Given the description of an element on the screen output the (x, y) to click on. 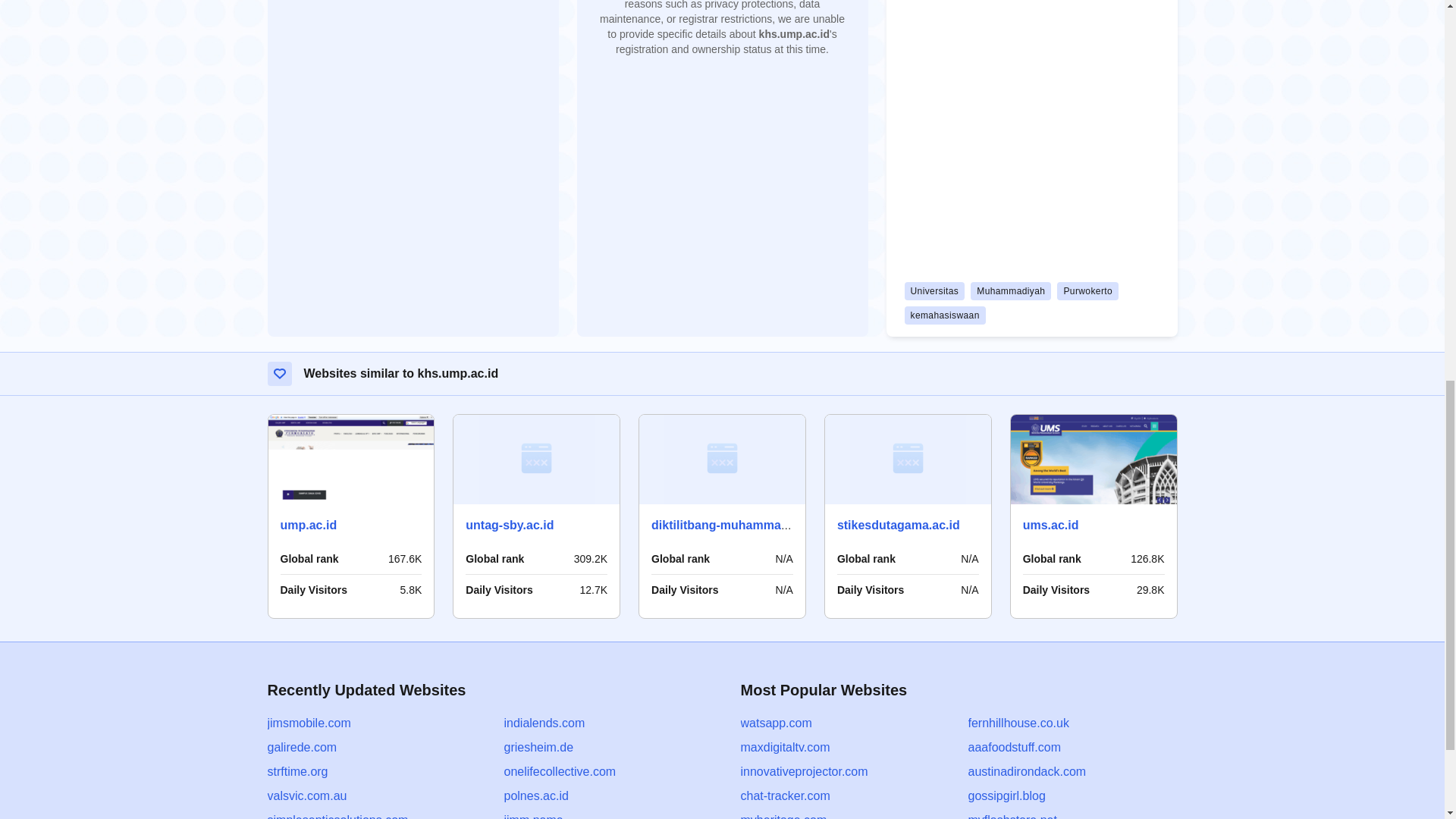
innovativeprojector.com (803, 771)
valsvic.com.au (306, 795)
galirede.com (301, 747)
ums.ac.id (1050, 524)
untag-sby.ac.id (509, 524)
strftime.org (296, 771)
polnes.ac.id (535, 795)
indialends.com (544, 722)
maxdigitaltv.com (784, 747)
stikesdutagama.ac.id (898, 524)
jimm.name (532, 816)
griesheim.de (538, 747)
diktilitbang-muhammadiyah.or.id (745, 524)
fernhillhouse.co.uk (1018, 722)
aaafoodstuff.com (1013, 747)
